Given the description of an element on the screen output the (x, y) to click on. 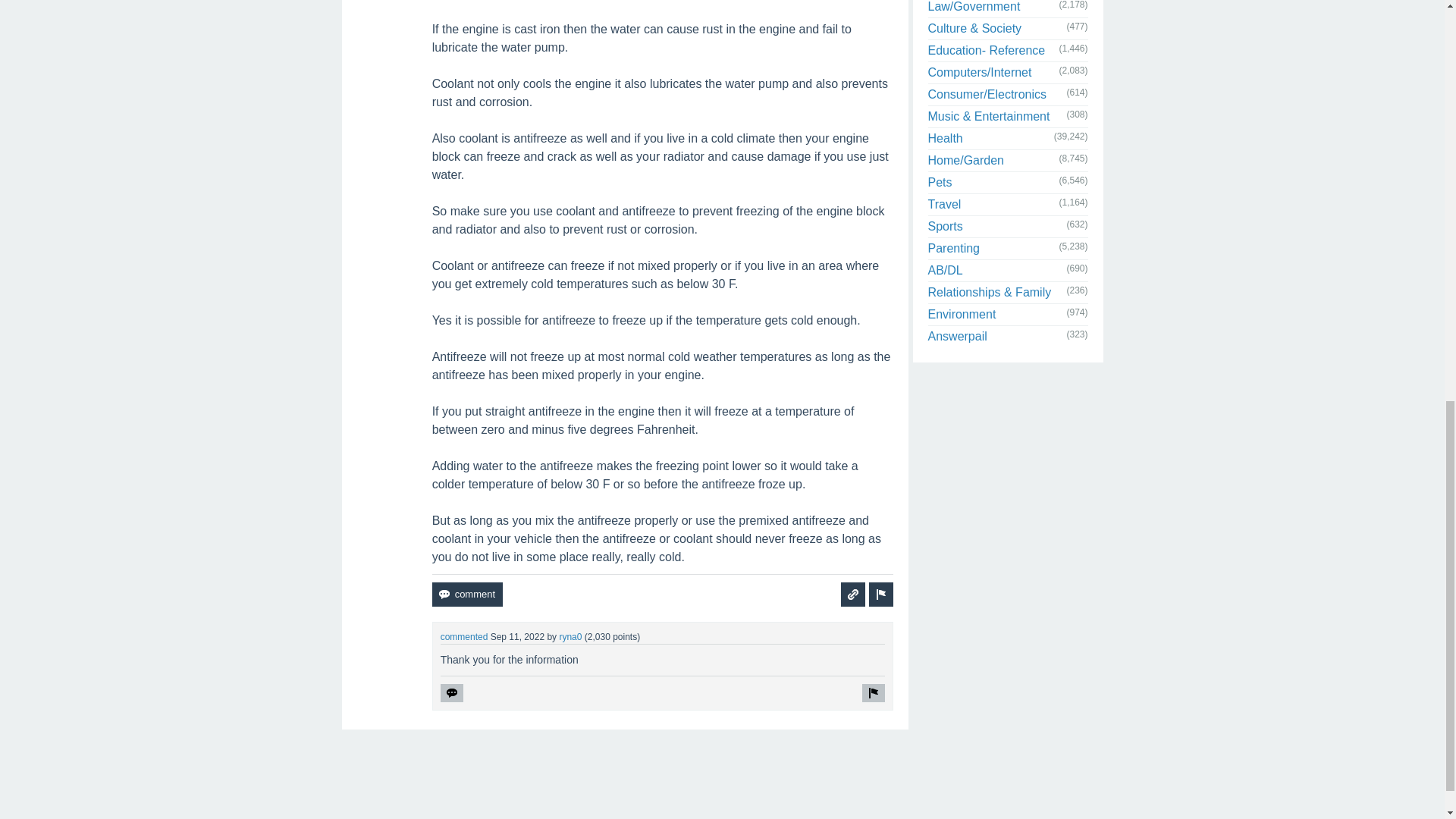
ask related question (852, 594)
Ask a new question relating to this answer (852, 594)
flag (881, 594)
ryna0 (569, 636)
comment (467, 594)
ask related question (852, 594)
flag (881, 594)
Add a comment on this answer (467, 594)
commented (464, 636)
comment (467, 594)
